Given the description of an element on the screen output the (x, y) to click on. 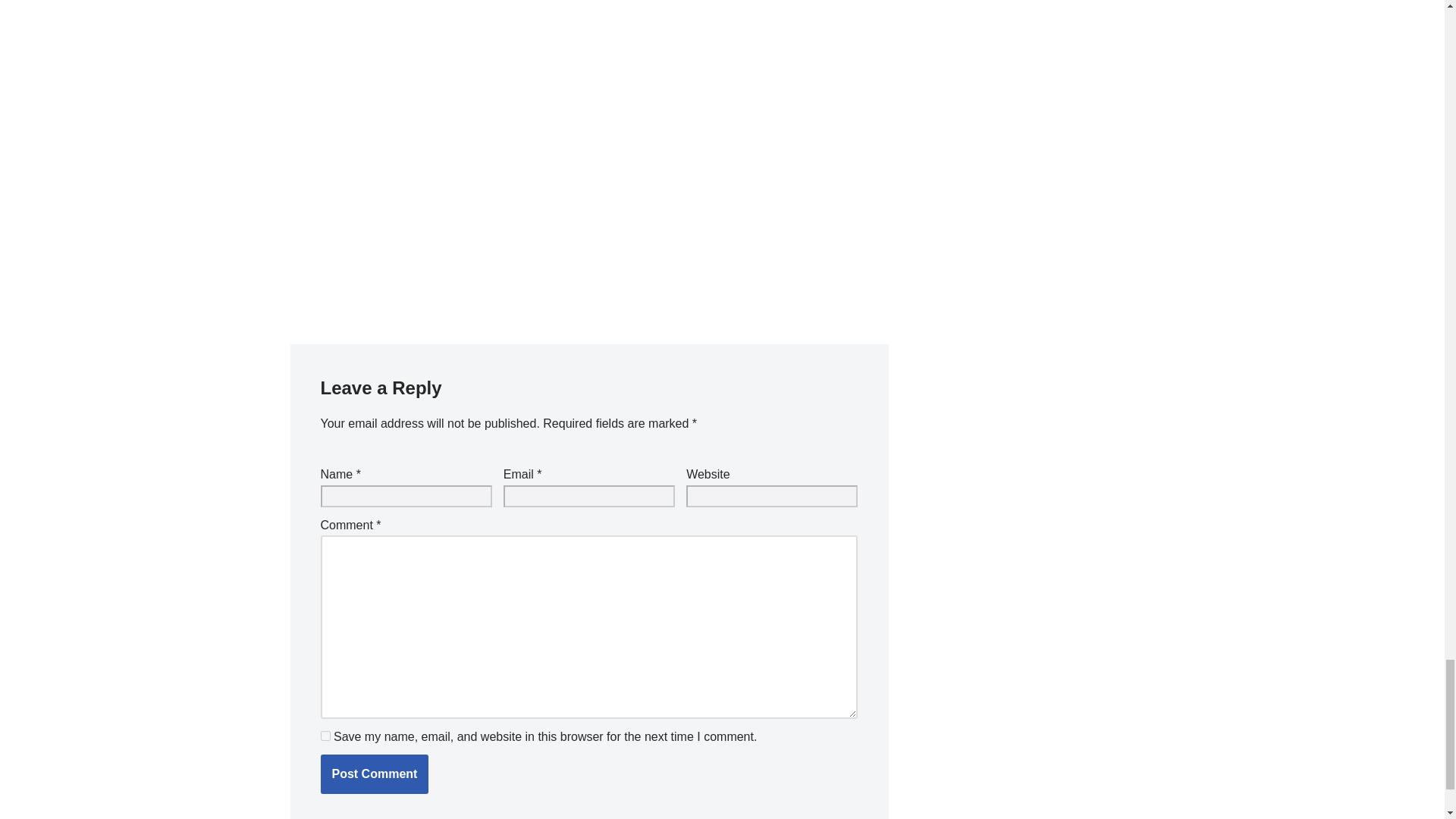
Post Comment (374, 773)
Post Comment (374, 773)
yes (325, 736)
